Given the description of an element on the screen output the (x, y) to click on. 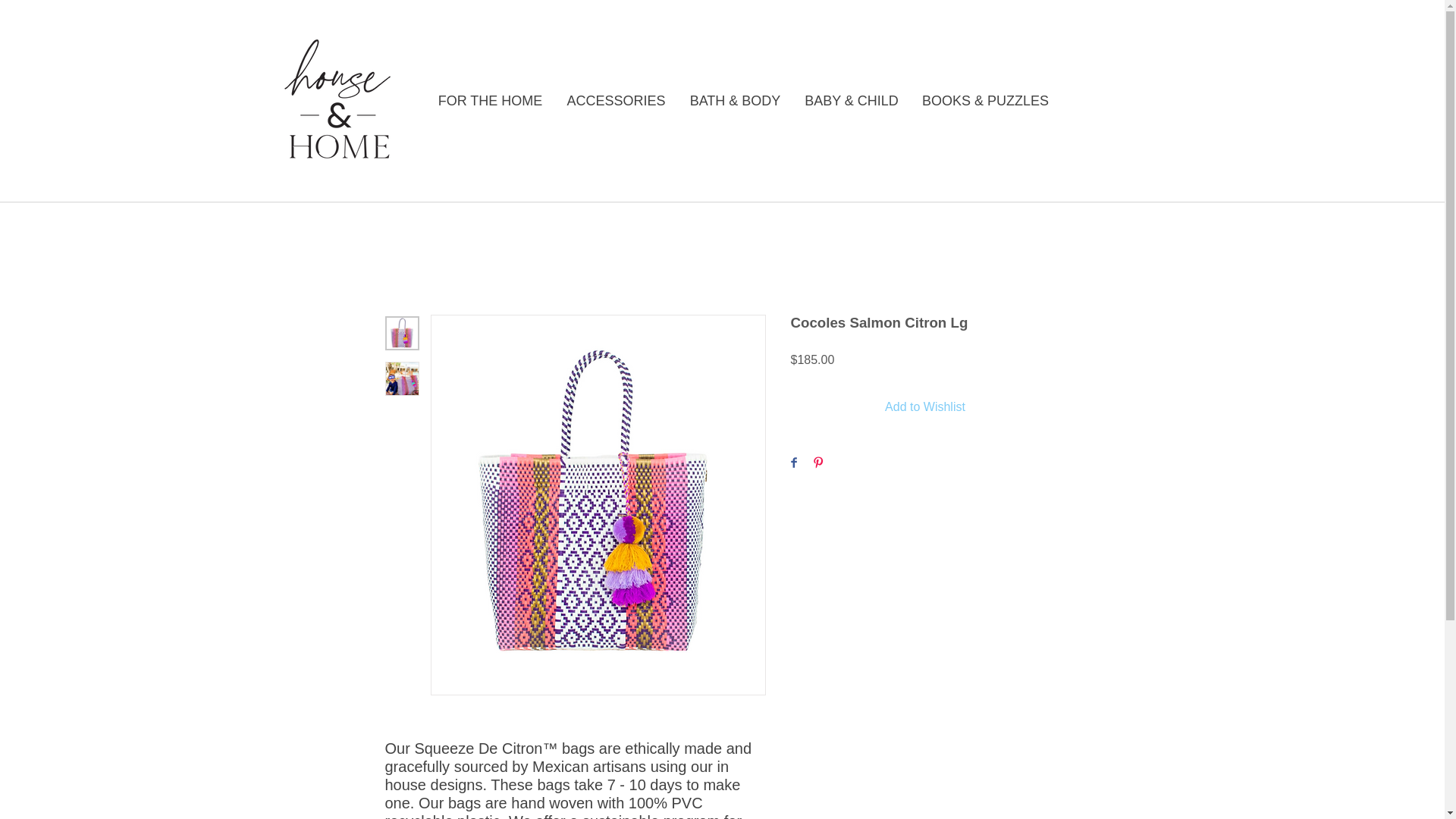
FOR THE HOME (490, 100)
Add to Wishlist (924, 407)
